Given the description of an element on the screen output the (x, y) to click on. 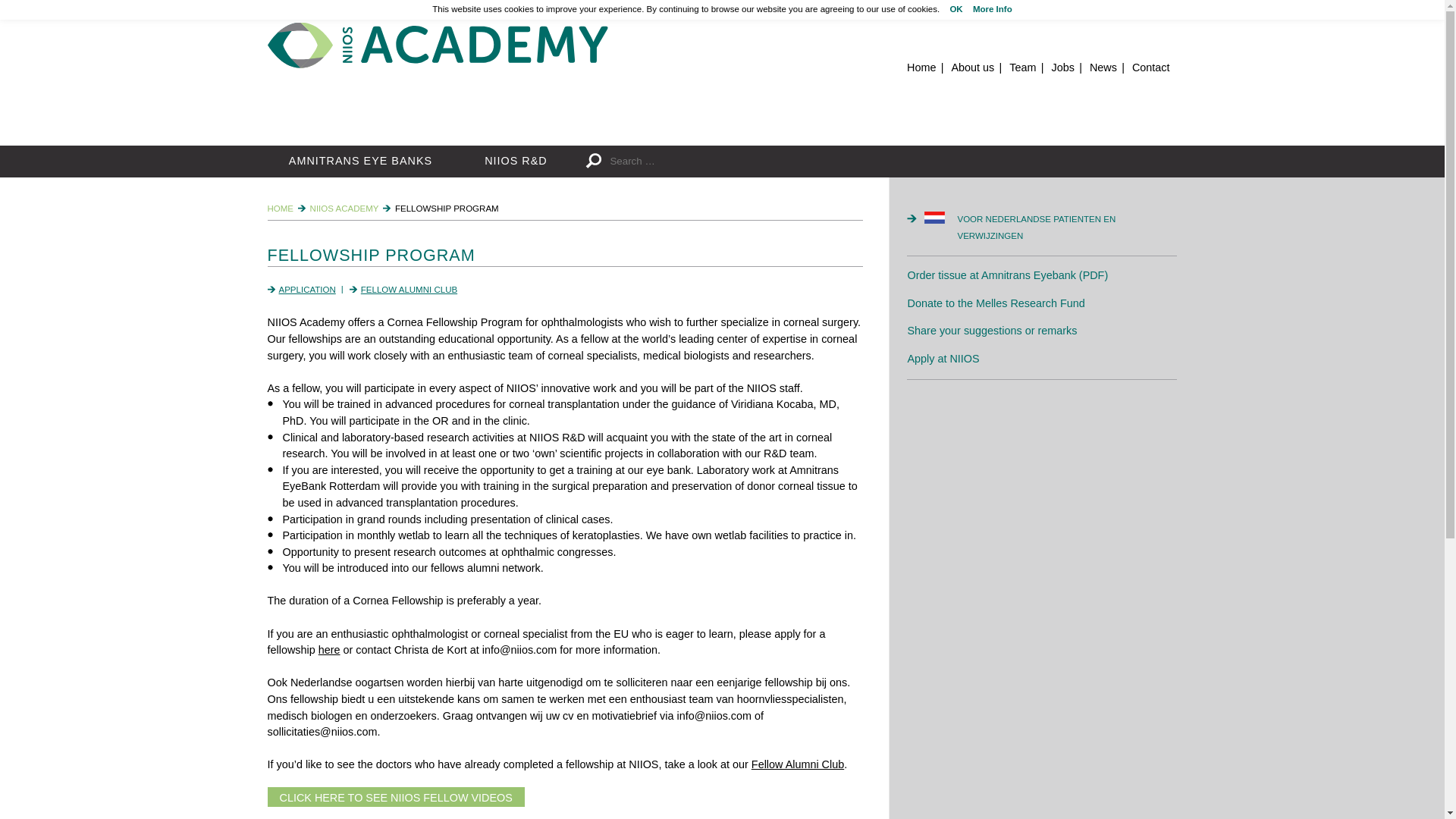
Contact (1151, 67)
News (1102, 67)
Share your suggestions or remarks (992, 330)
HOME (280, 207)
Home (437, 45)
CLICK HERE TO SEE NIIOS FELLOW VIDEOS (395, 796)
AMNITRANS EYE BANKS (359, 161)
Team (1022, 67)
APPLICATION (307, 289)
Donate to the Melles Research Fund (995, 303)
Jobs (1062, 67)
VOOR NEDERLANDSE PATIENTEN EN VERWIJZINGEN (1050, 227)
NIIOS ACADEMY (344, 207)
About us (972, 67)
Home (921, 67)
